Given the description of an element on the screen output the (x, y) to click on. 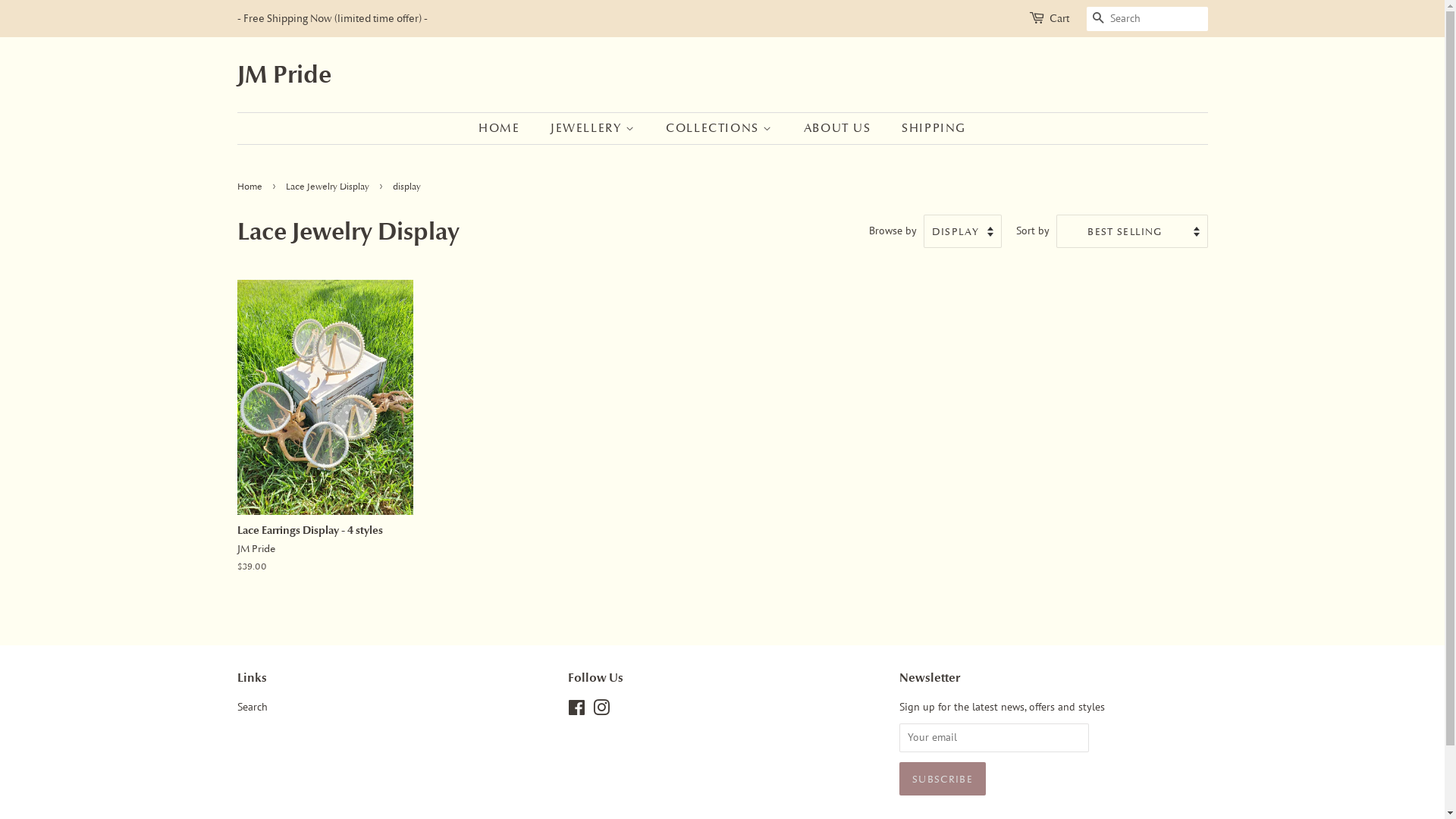
Cart Element type: text (1059, 18)
SHIPPING Element type: text (928, 128)
SEARCH Element type: text (1097, 18)
Instagram Element type: text (601, 710)
Subscribe Element type: text (942, 778)
JM Pride Element type: text (283, 73)
JEWELLERY Element type: text (594, 128)
Lace Jewelry Display Element type: text (328, 186)
ABOUT US Element type: text (839, 128)
COLLECTIONS Element type: text (720, 128)
HOME Element type: text (506, 128)
Facebook Element type: text (576, 710)
Home Element type: text (250, 186)
Search Element type: text (251, 706)
